Given the description of an element on the screen output the (x, y) to click on. 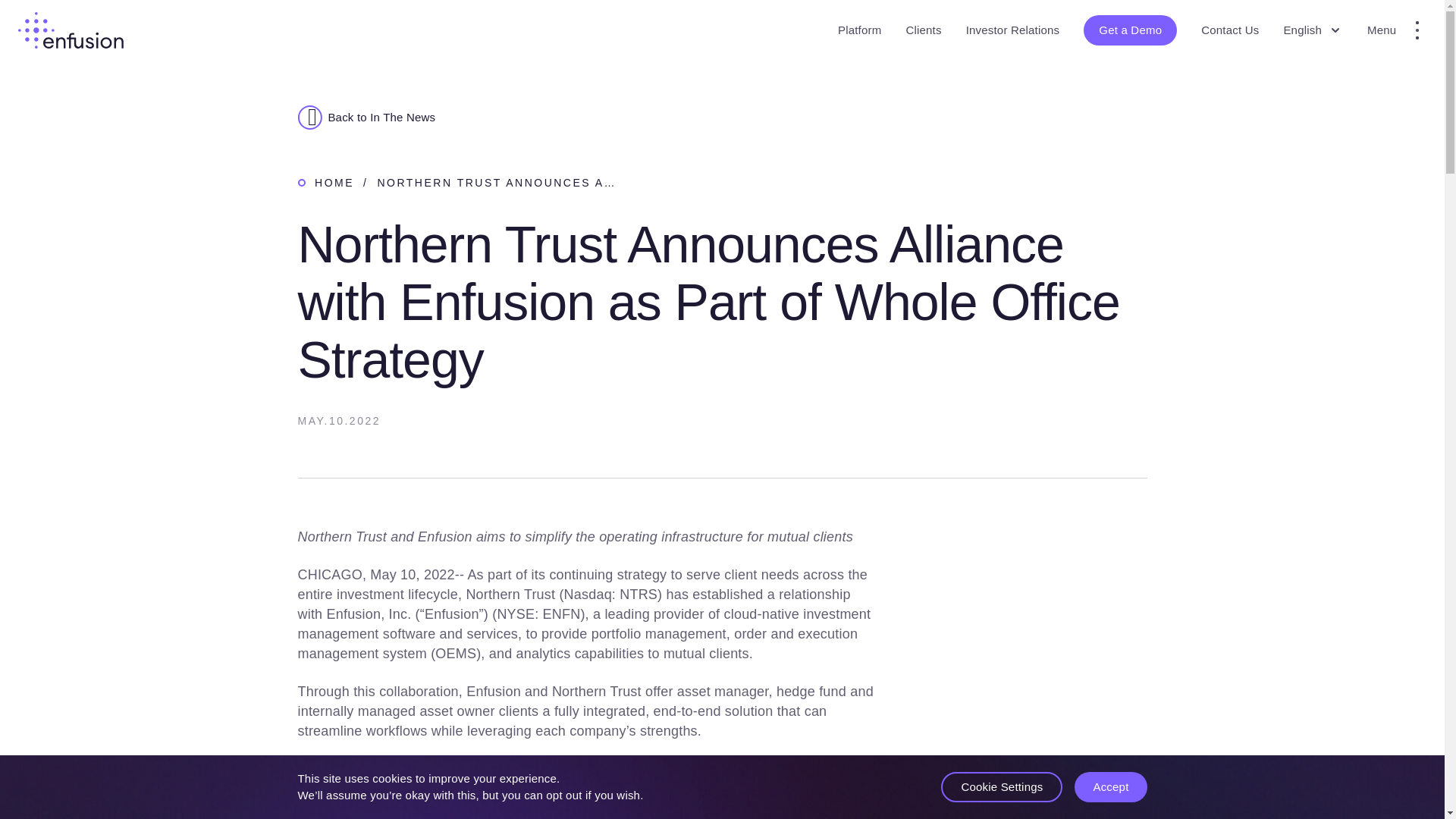
Get a Demo (1129, 30)
Menu (1396, 30)
Accept (1110, 787)
HOME (333, 182)
Investor Relations (1012, 30)
English (1312, 30)
Platform (859, 30)
Clients (922, 30)
Contact Us (1230, 30)
Back to In The News (722, 117)
Cookie Settings (1001, 787)
Enfusion (70, 30)
